Given the description of an element on the screen output the (x, y) to click on. 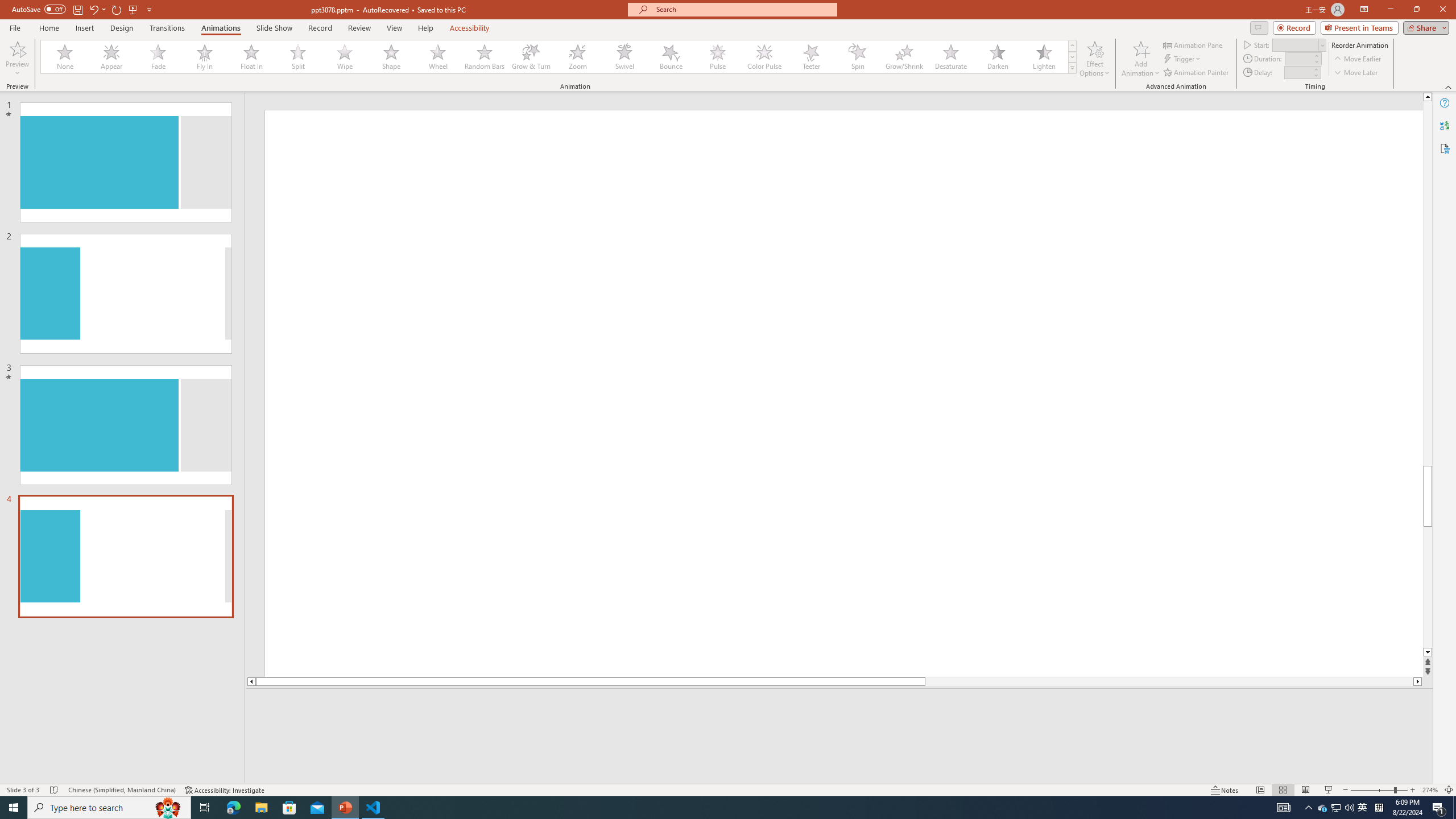
Animation Pane (1193, 44)
Bounce (670, 56)
Trigger (1182, 58)
Split (298, 56)
AutomationID: AnimationGallery (558, 56)
Darken (997, 56)
Translator (1444, 125)
Zoom 274% (1430, 790)
